Given the description of an element on the screen output the (x, y) to click on. 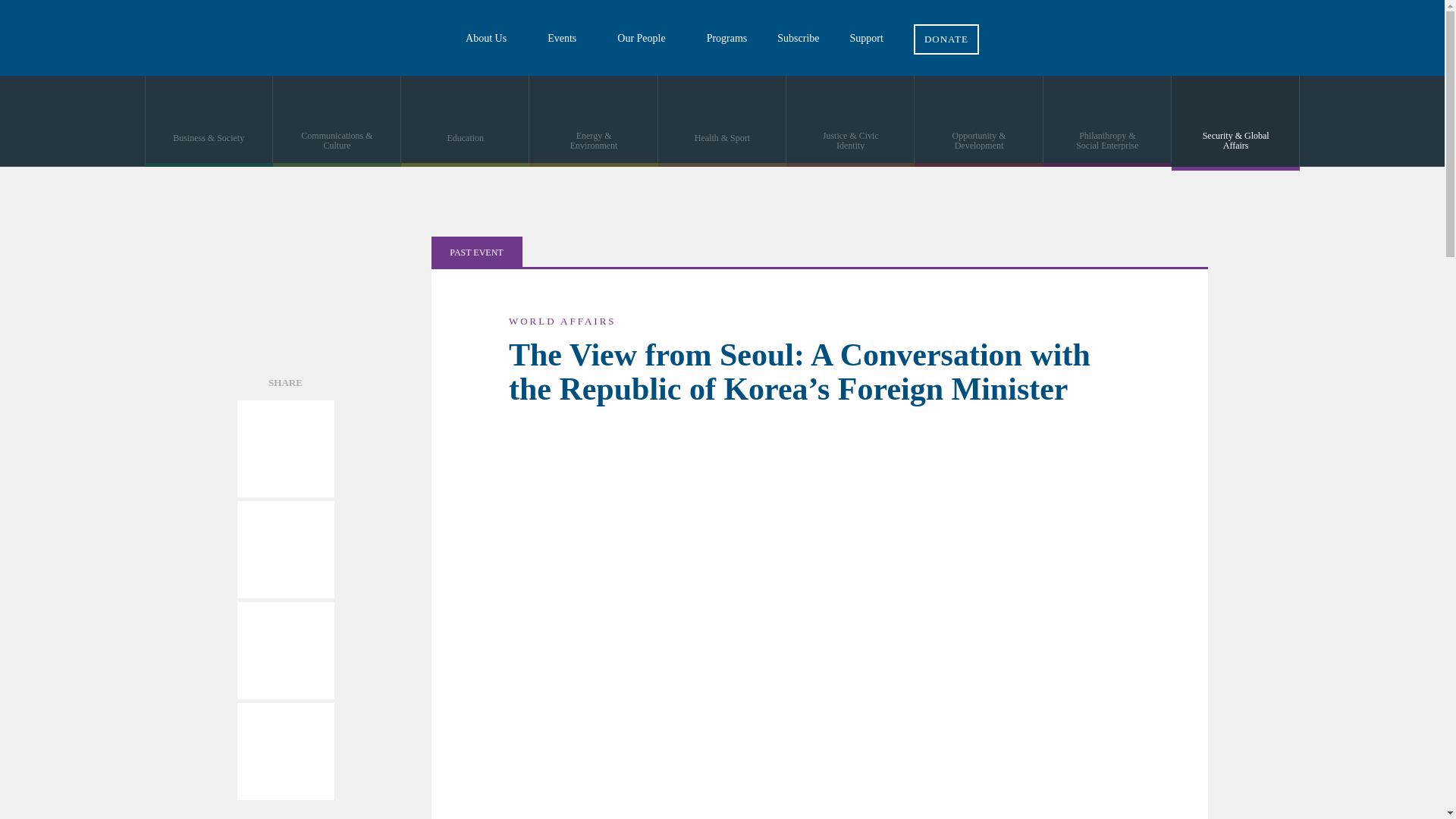
Subscribe (797, 38)
The Aspen Institute (113, 38)
Events (567, 38)
Our People (646, 38)
About Us (490, 38)
Education (465, 121)
Programs (726, 38)
DONATE (946, 27)
